Given the description of an element on the screen output the (x, y) to click on. 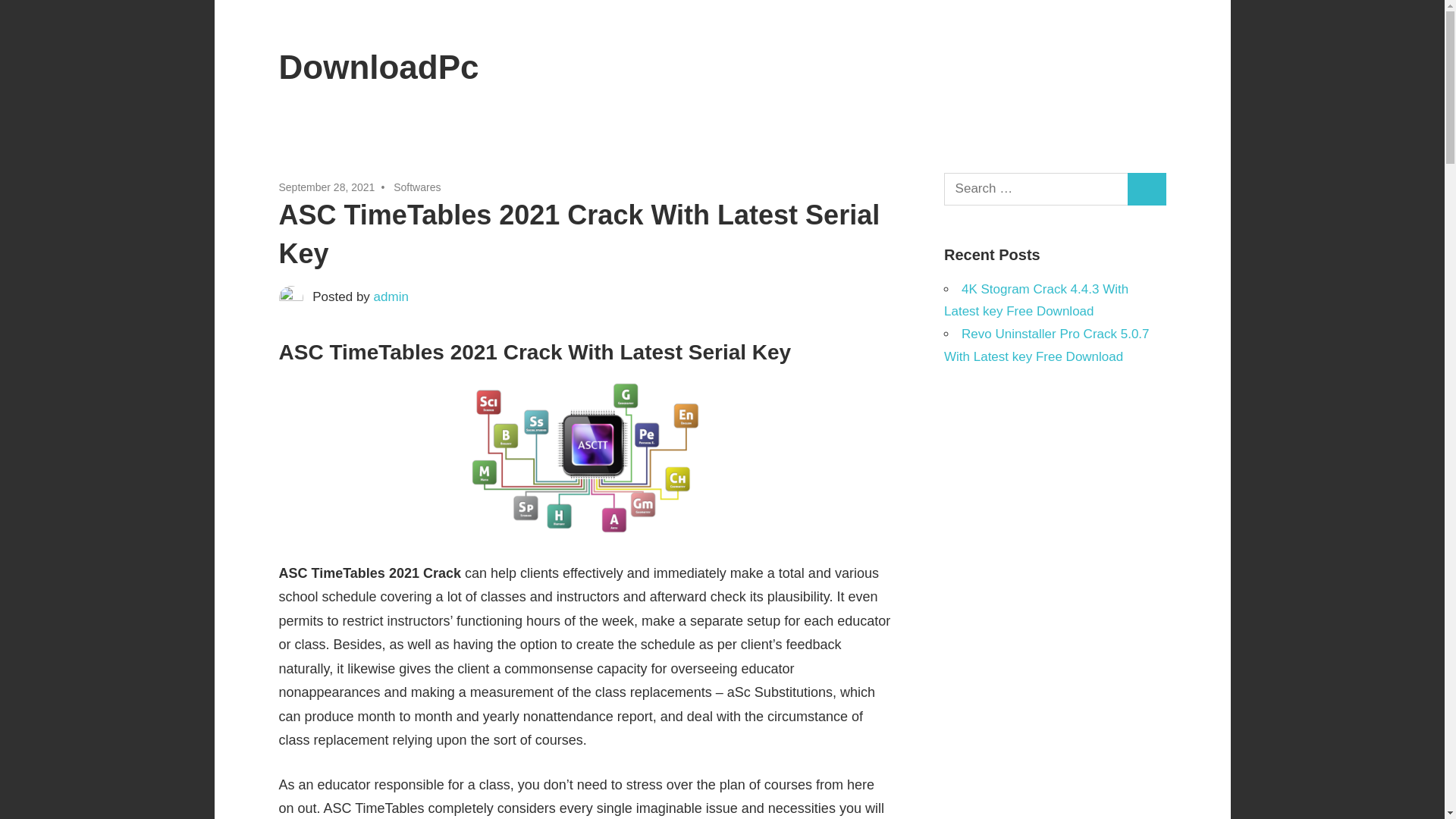
September 28, 2021 (327, 186)
4K Stogram Crack 4.4.3 With Latest key Free Download (1035, 300)
admin (391, 296)
DownloadPc (379, 66)
Softwares (417, 186)
Search for: (1035, 188)
View all posts by admin (391, 296)
5:45 pm (327, 186)
